Given the description of an element on the screen output the (x, y) to click on. 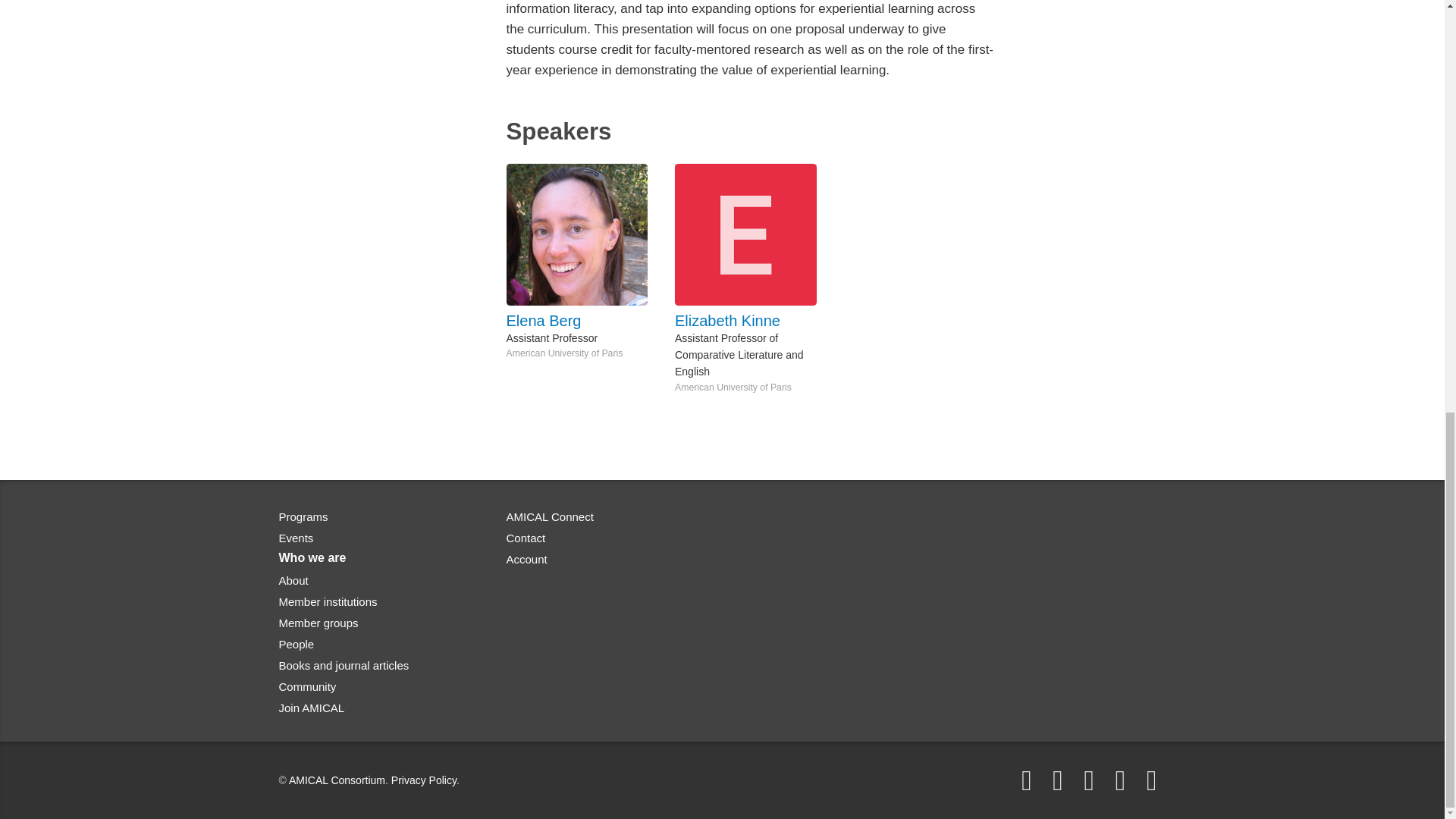
People (296, 643)
Privacy Policy (424, 779)
Elizabeth Kinne (751, 321)
Join AMICAL (312, 707)
Account (526, 558)
Member institutions (328, 600)
Facebook (1026, 779)
Events (296, 537)
Contact (526, 537)
AMICAL Connect (550, 516)
Elena Berg (583, 321)
Community (307, 685)
Member groups (318, 621)
Programs (304, 516)
AMICAL Consortium (336, 779)
